Given the description of an element on the screen output the (x, y) to click on. 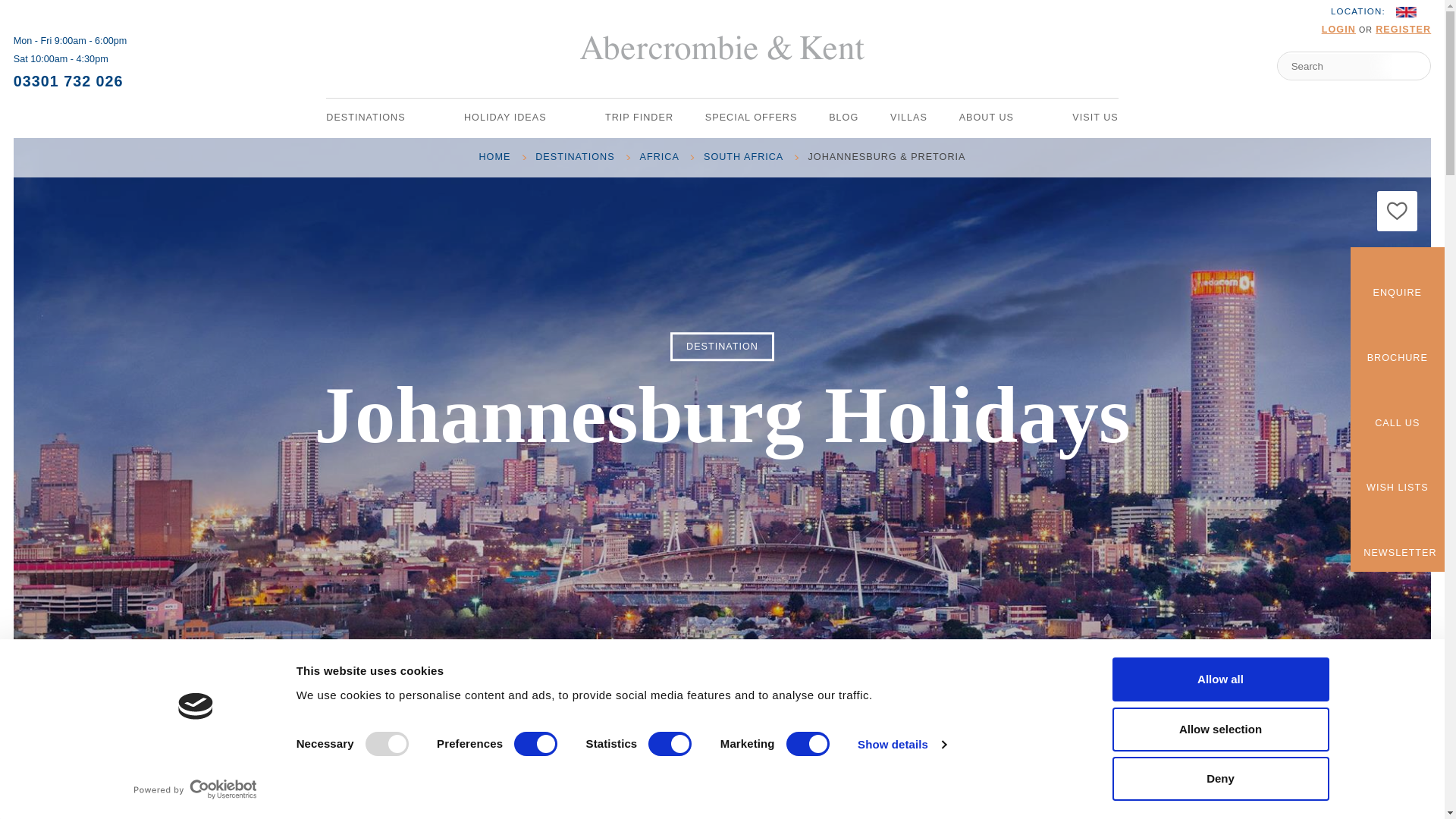
Show details (900, 744)
